Given the description of an element on the screen output the (x, y) to click on. 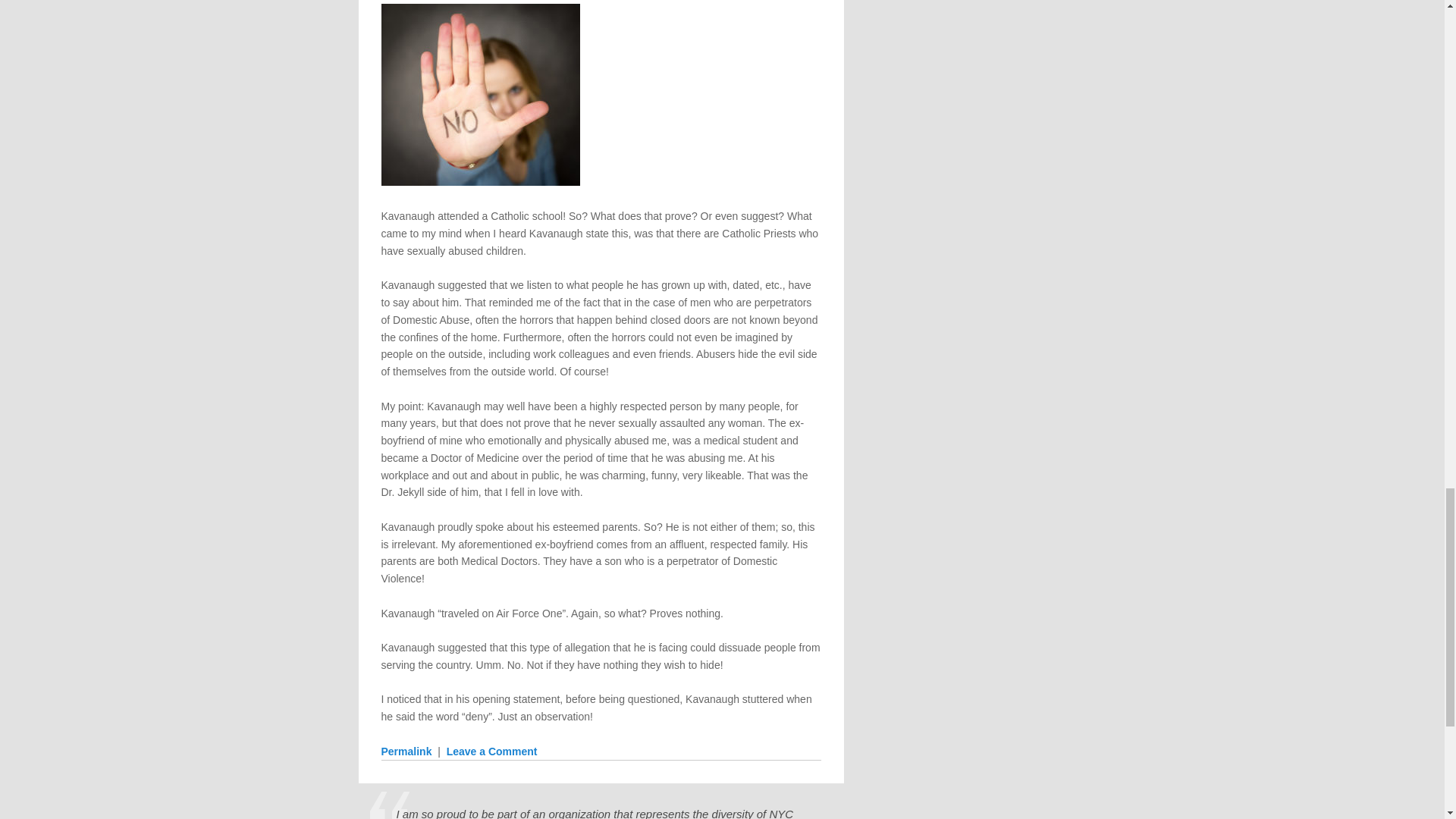
Permalink to Kavanaugh attended a Catholic School. (405, 751)
